Given the description of an element on the screen output the (x, y) to click on. 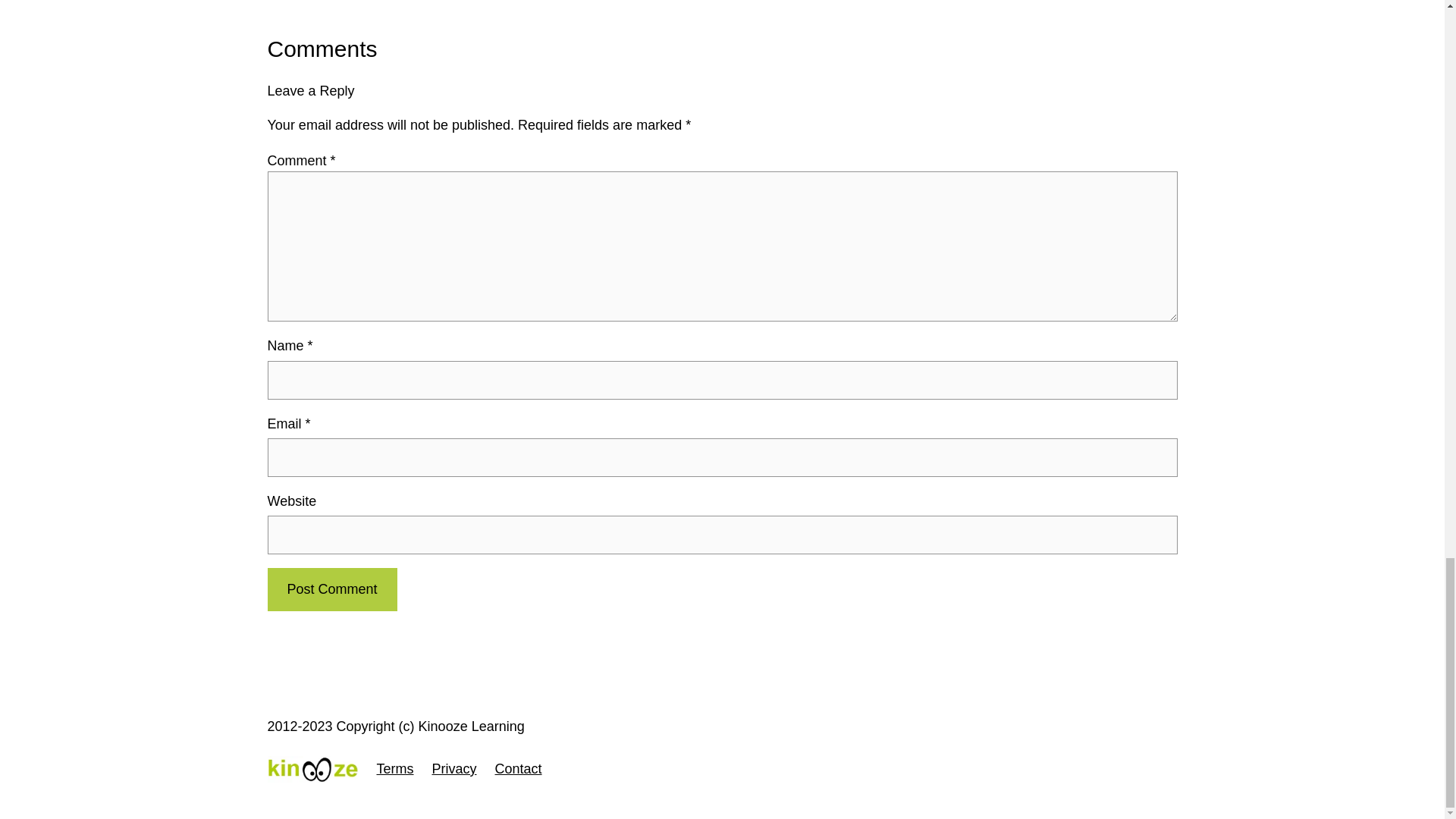
Privacy (454, 768)
Contact (518, 768)
Terms (394, 768)
Post Comment (331, 589)
Post Comment (331, 589)
